Given the description of an element on the screen output the (x, y) to click on. 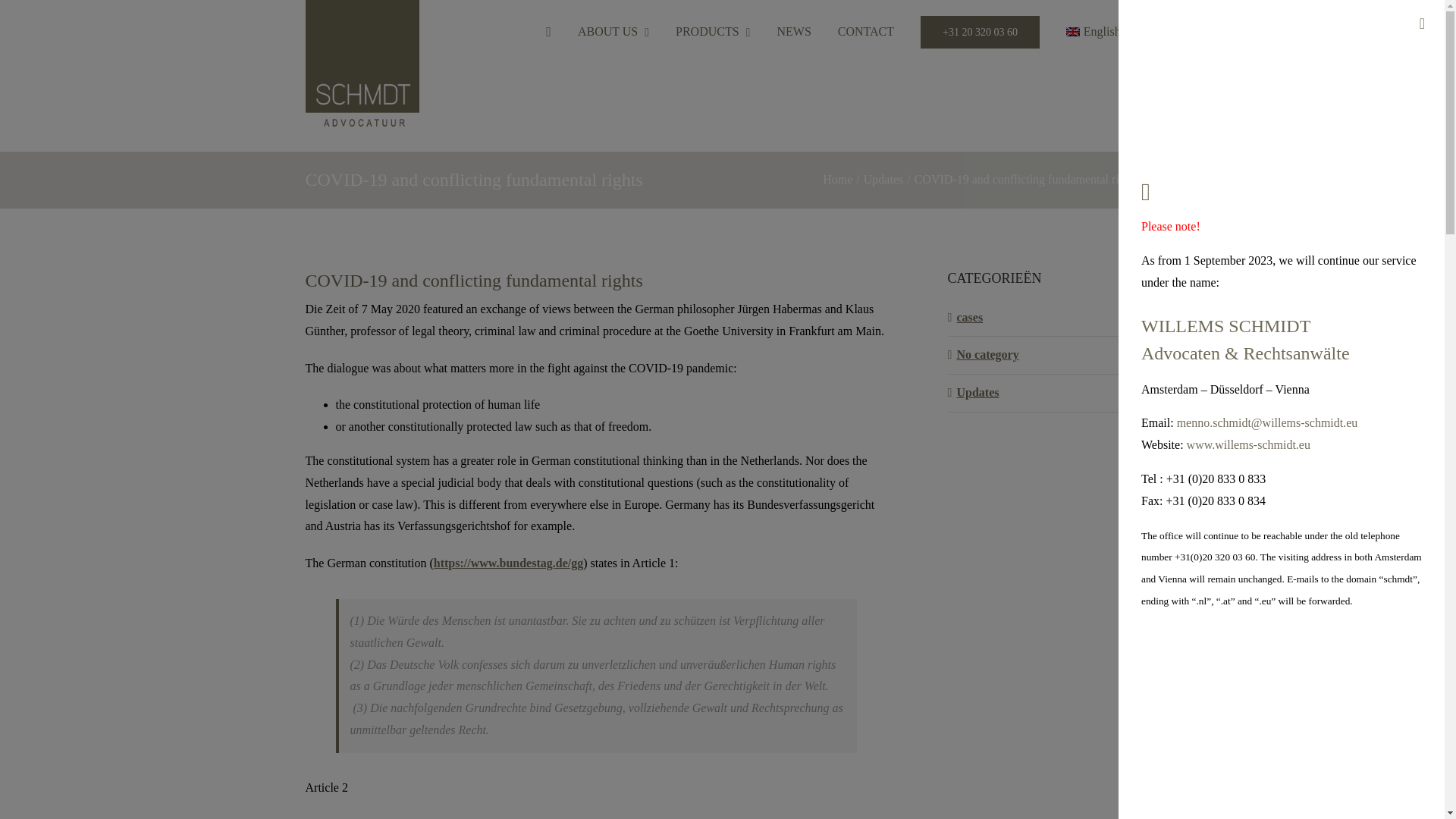
ABOUT US (613, 31)
www.willems-schmidt.eu (1248, 444)
Updates (1044, 393)
PRODUCTS (712, 31)
Updates (882, 178)
English (1098, 31)
English (1098, 31)
Home (836, 178)
No category (1044, 354)
cases (1044, 318)
